Given the description of an element on the screen output the (x, y) to click on. 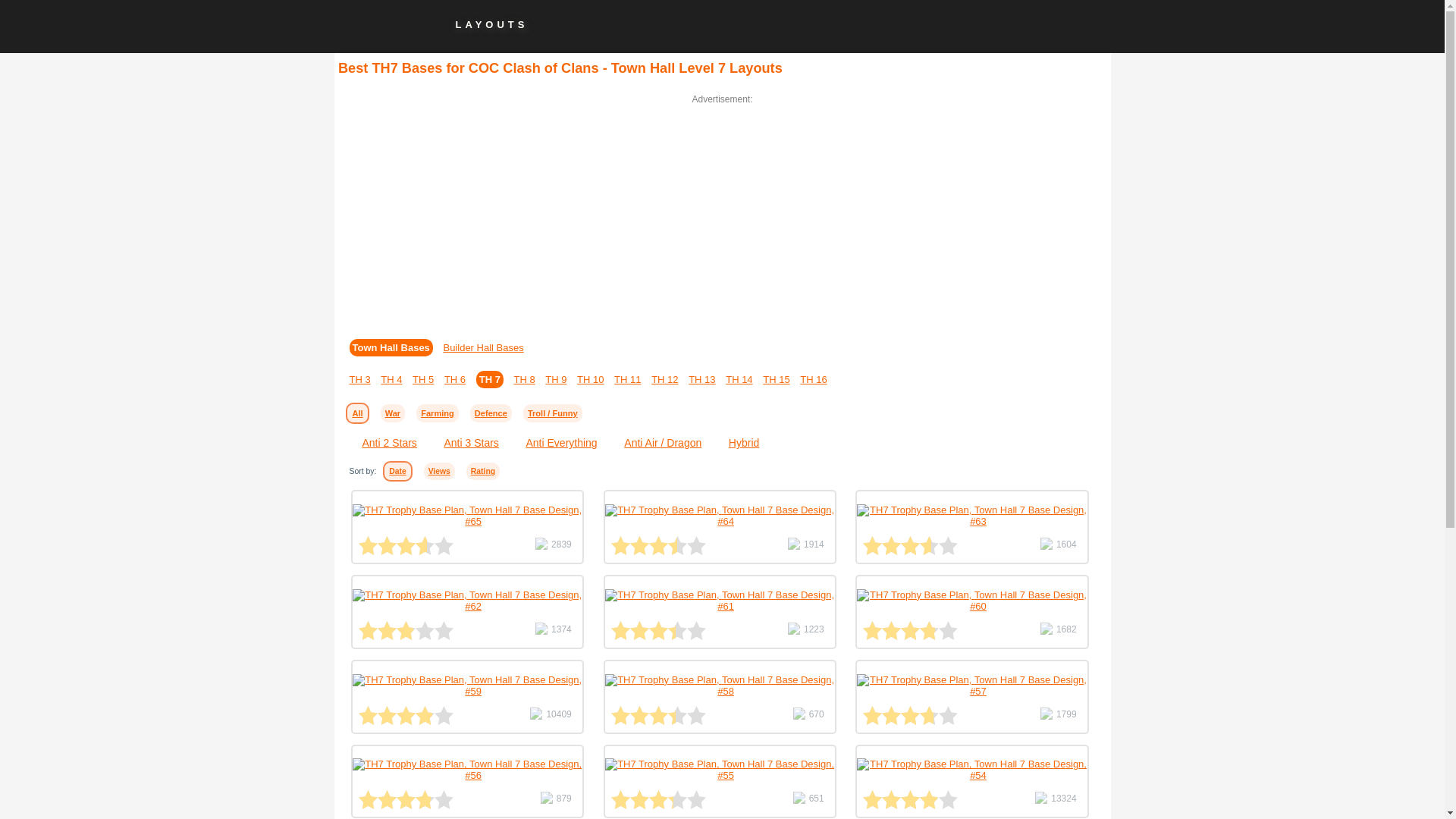
Date (397, 471)
TH 6 (454, 378)
TH 13 (701, 378)
TH 8 (523, 378)
Anti Everything (552, 442)
War (392, 413)
TH 7 (489, 379)
TH 11 (627, 378)
Anti 2 Stars (381, 442)
Tag Hybrid (734, 442)
TH 4 (390, 378)
TH 12 (664, 378)
Farming (437, 413)
TH 10 (590, 378)
Anti 3 Stars (463, 442)
